Given the description of an element on the screen output the (x, y) to click on. 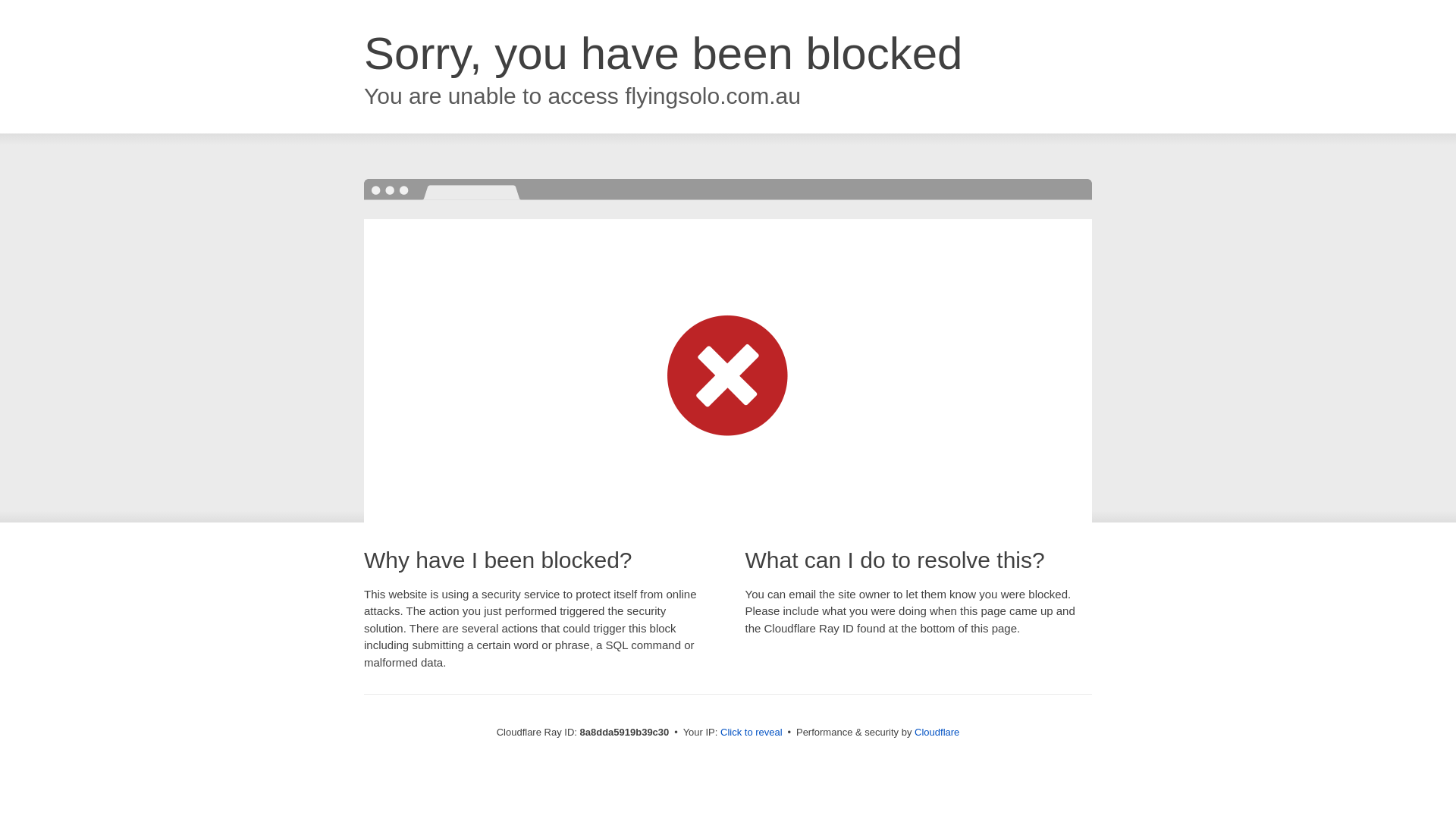
Click to reveal (751, 732)
Cloudflare (936, 731)
